Given the description of an element on the screen output the (x, y) to click on. 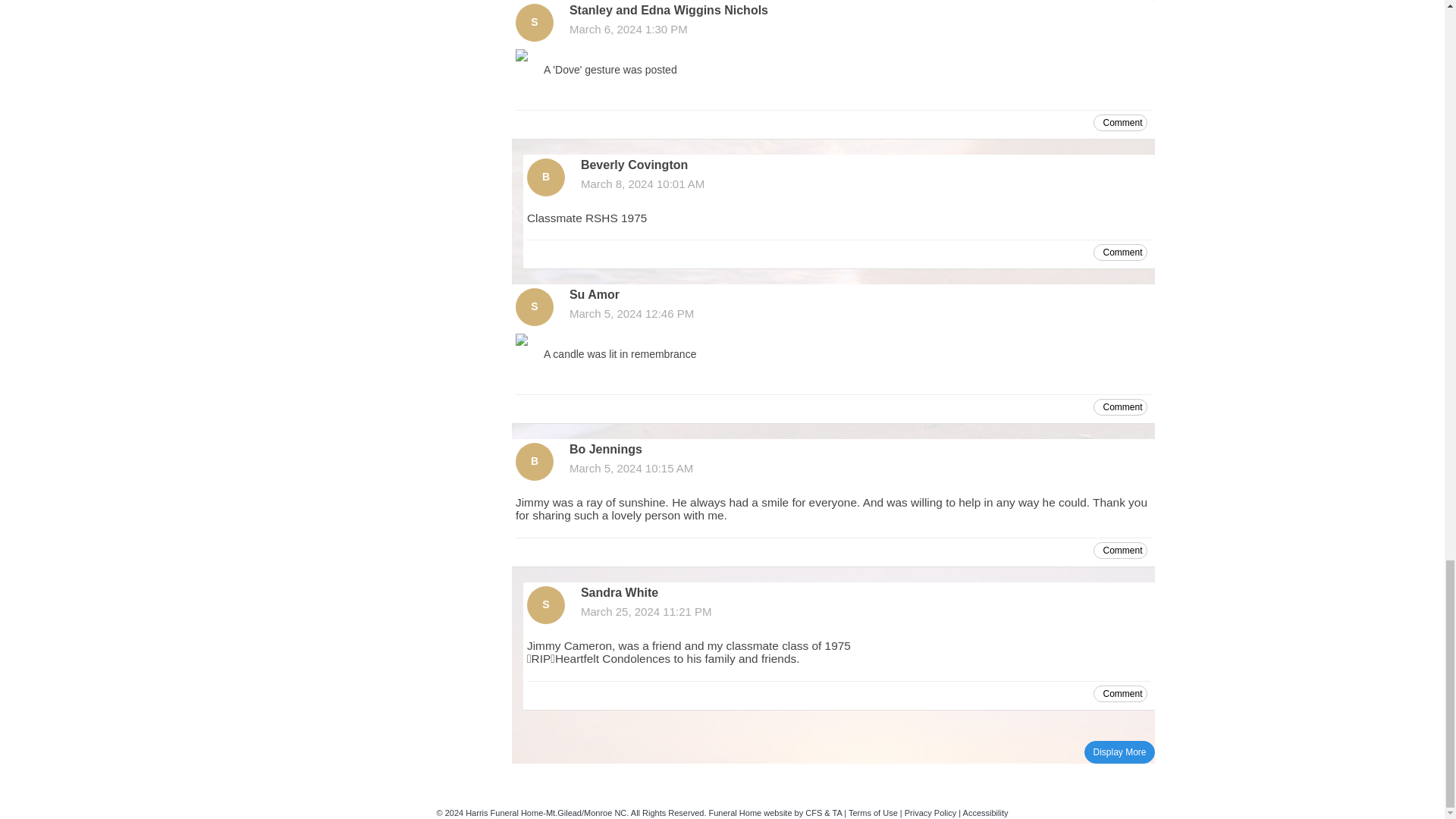
Stanley and Edna Wiggins Nichols (534, 22)
Beverly Covington (545, 177)
Sandra White (545, 605)
Su Amor (534, 306)
Bo Jennings (534, 461)
